Given the description of an element on the screen output the (x, y) to click on. 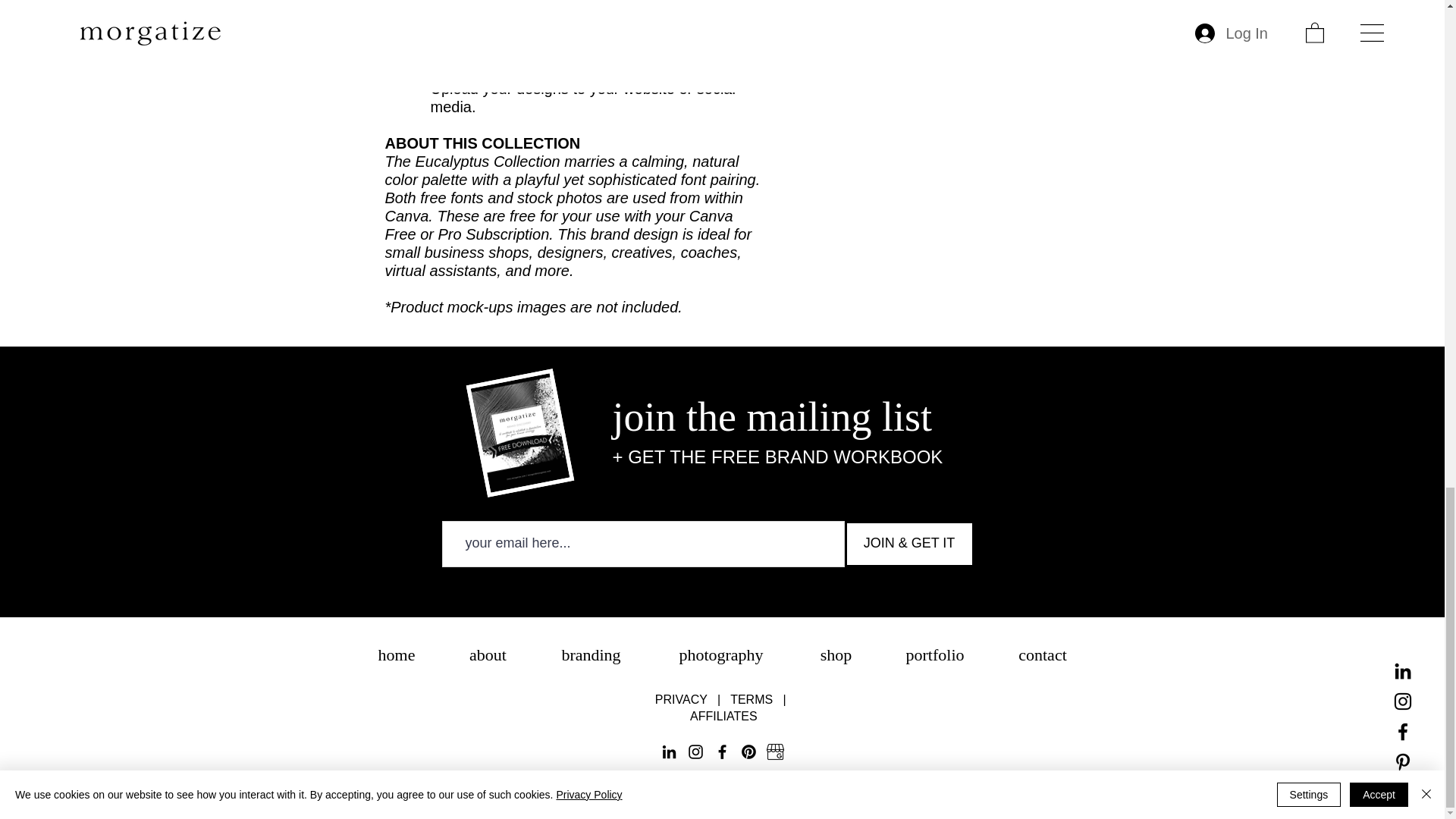
contact (1042, 655)
about (488, 655)
branding (591, 655)
PRIVACY    (686, 698)
photography (721, 655)
home (396, 655)
portfolio (934, 655)
AFFILIATES (723, 716)
shop (835, 655)
TERMS    (756, 698)
